Given the description of an element on the screen output the (x, y) to click on. 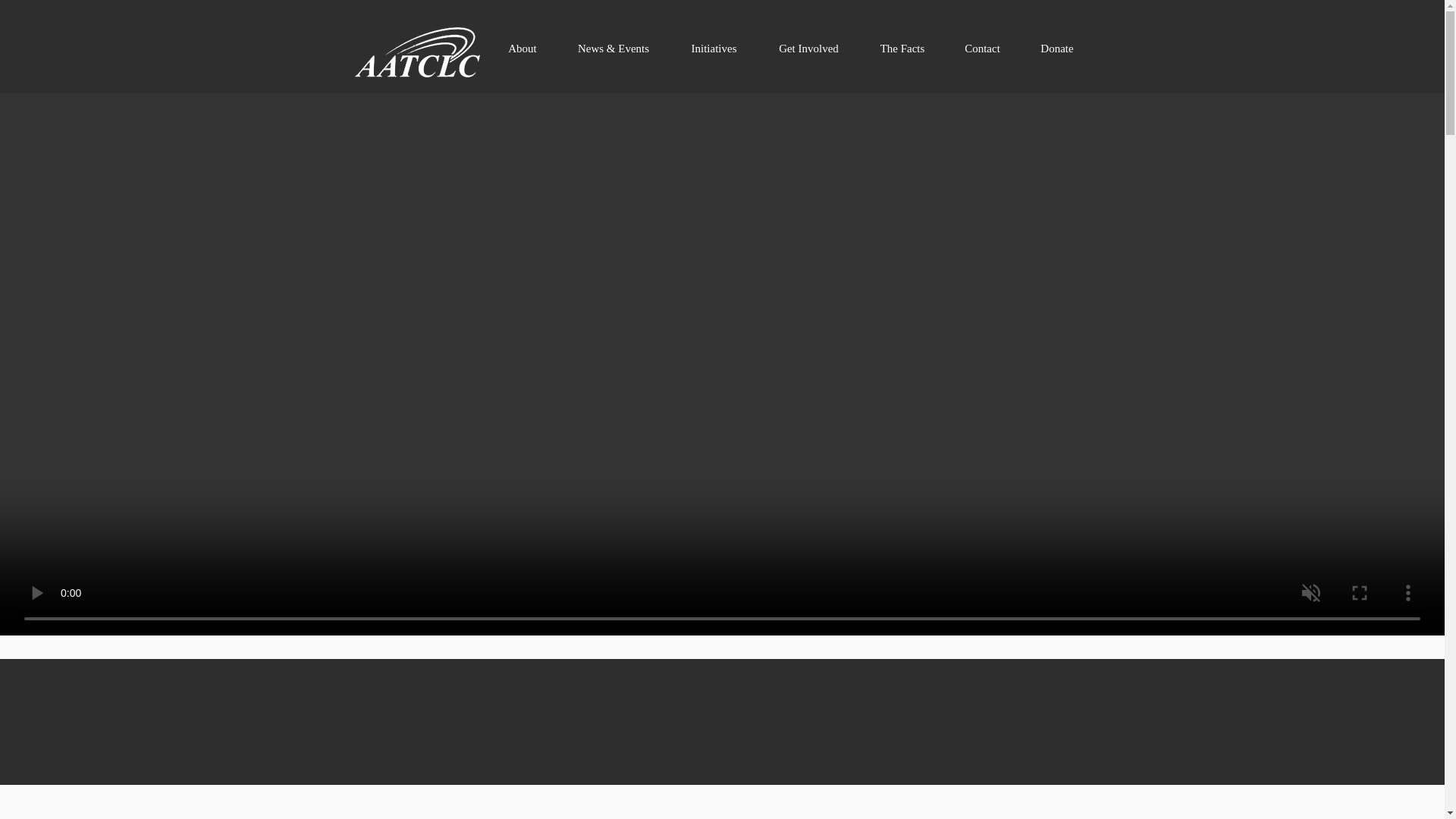
About (521, 48)
Donate (1057, 48)
The Facts (901, 48)
Contact (982, 48)
